Given the description of an element on the screen output the (x, y) to click on. 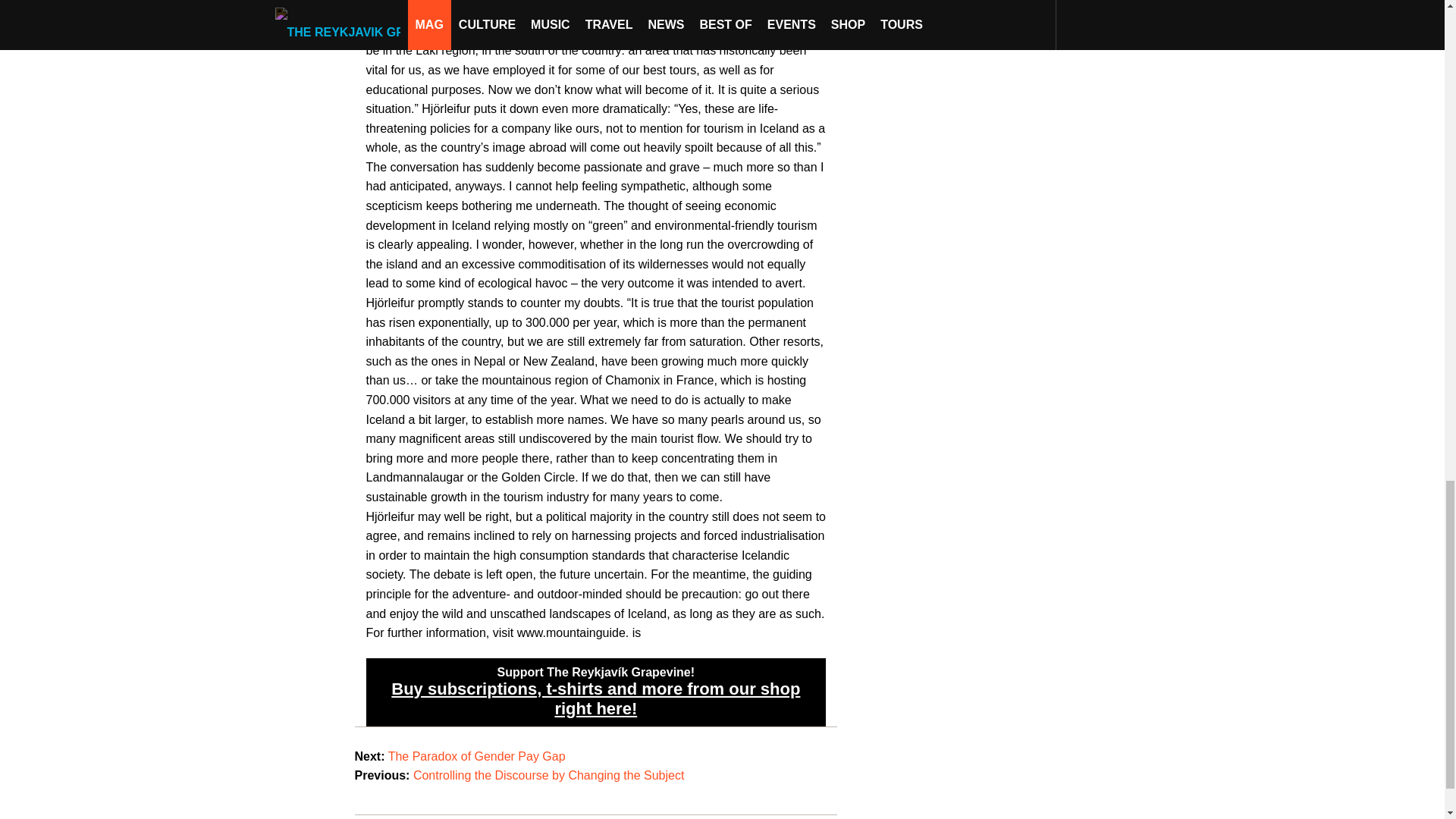
The Paradox of Gender Pay Gap (477, 756)
Controlling the Discourse by Changing the Subject (548, 775)
